Given the description of an element on the screen output the (x, y) to click on. 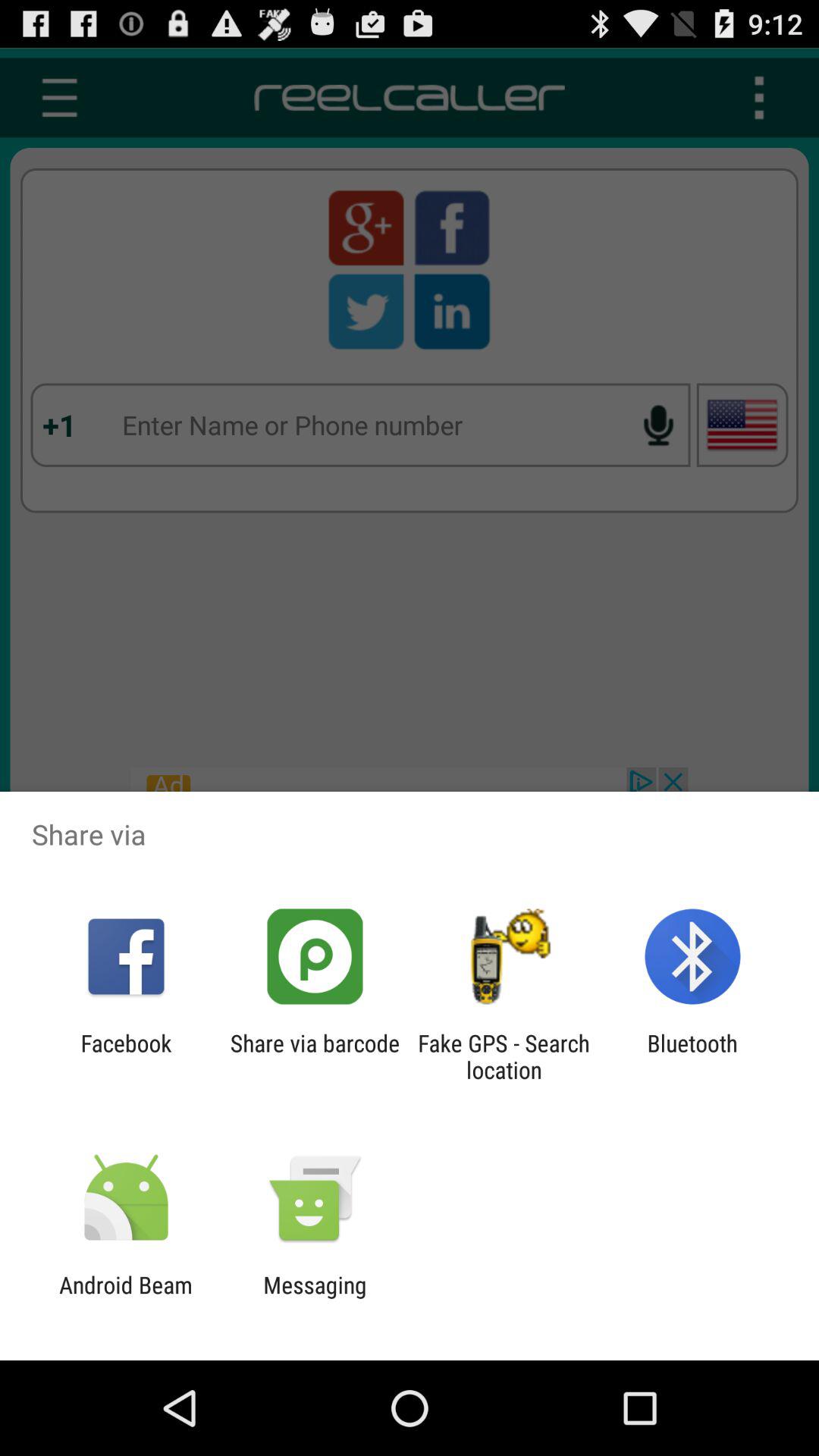
turn on messaging app (314, 1298)
